Given the description of an element on the screen output the (x, y) to click on. 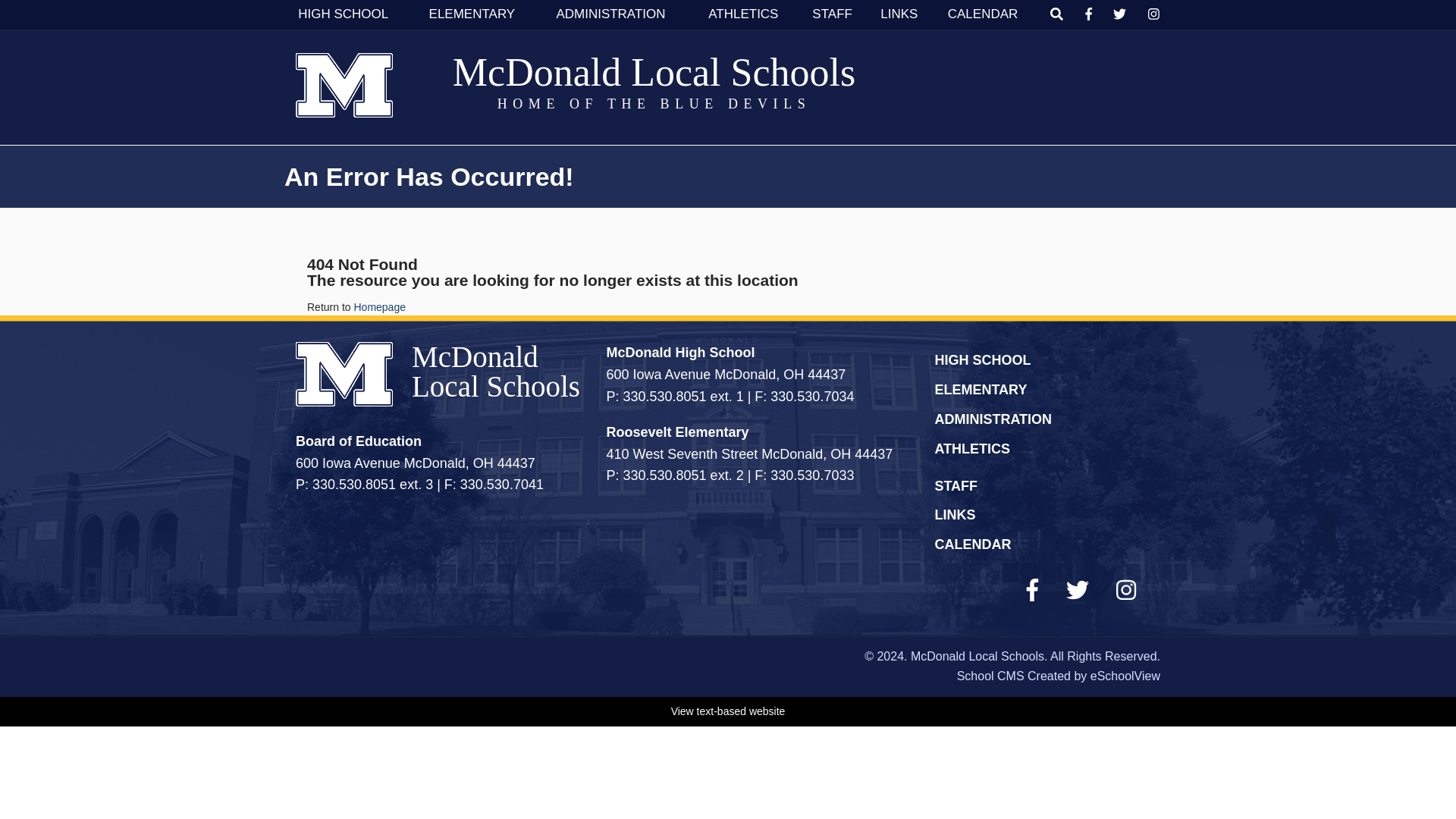
School CMS Created by eSchoolView (1058, 675)
STAFF (955, 485)
LINKS (898, 14)
Homepage (379, 306)
ATHLETICS (742, 14)
McDonald Local Schools (654, 72)
ATHLETICS (972, 448)
ELEMENTARY (980, 389)
STAFF (832, 14)
CALENDAR (982, 14)
